Given the description of an element on the screen output the (x, y) to click on. 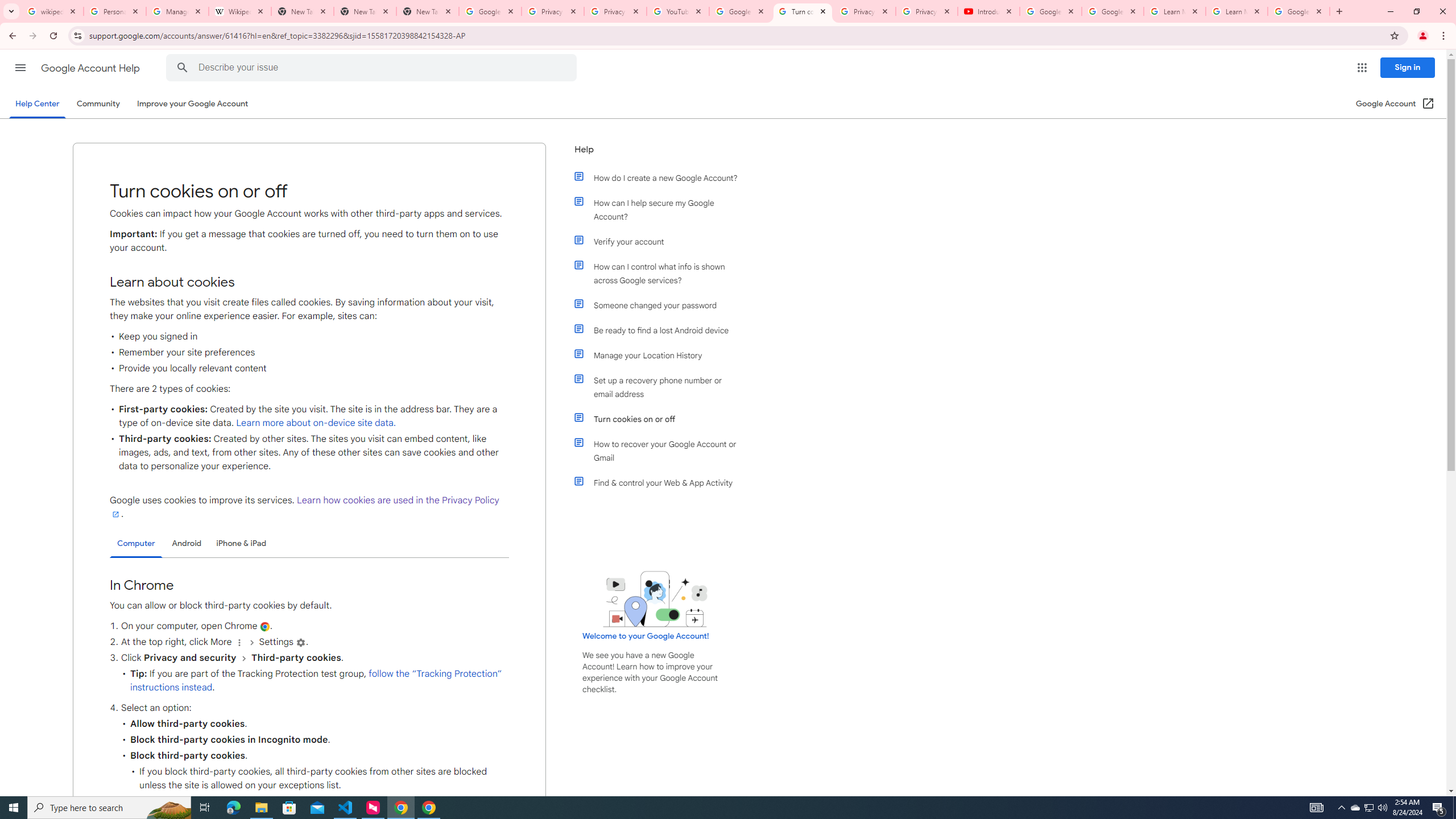
Turn cookies on or off - Computer - Google Account Help (802, 11)
Search Help Center (181, 67)
Manage your Location History - Google Search Help (177, 11)
How can I control what info is shown across Google services? (661, 273)
Learn more about on-device site data. (315, 423)
How to recover your Google Account or Gmail (661, 450)
How can I help secure my Google Account? (661, 209)
Learning Center home page image (655, 598)
